Given the description of an element on the screen output the (x, y) to click on. 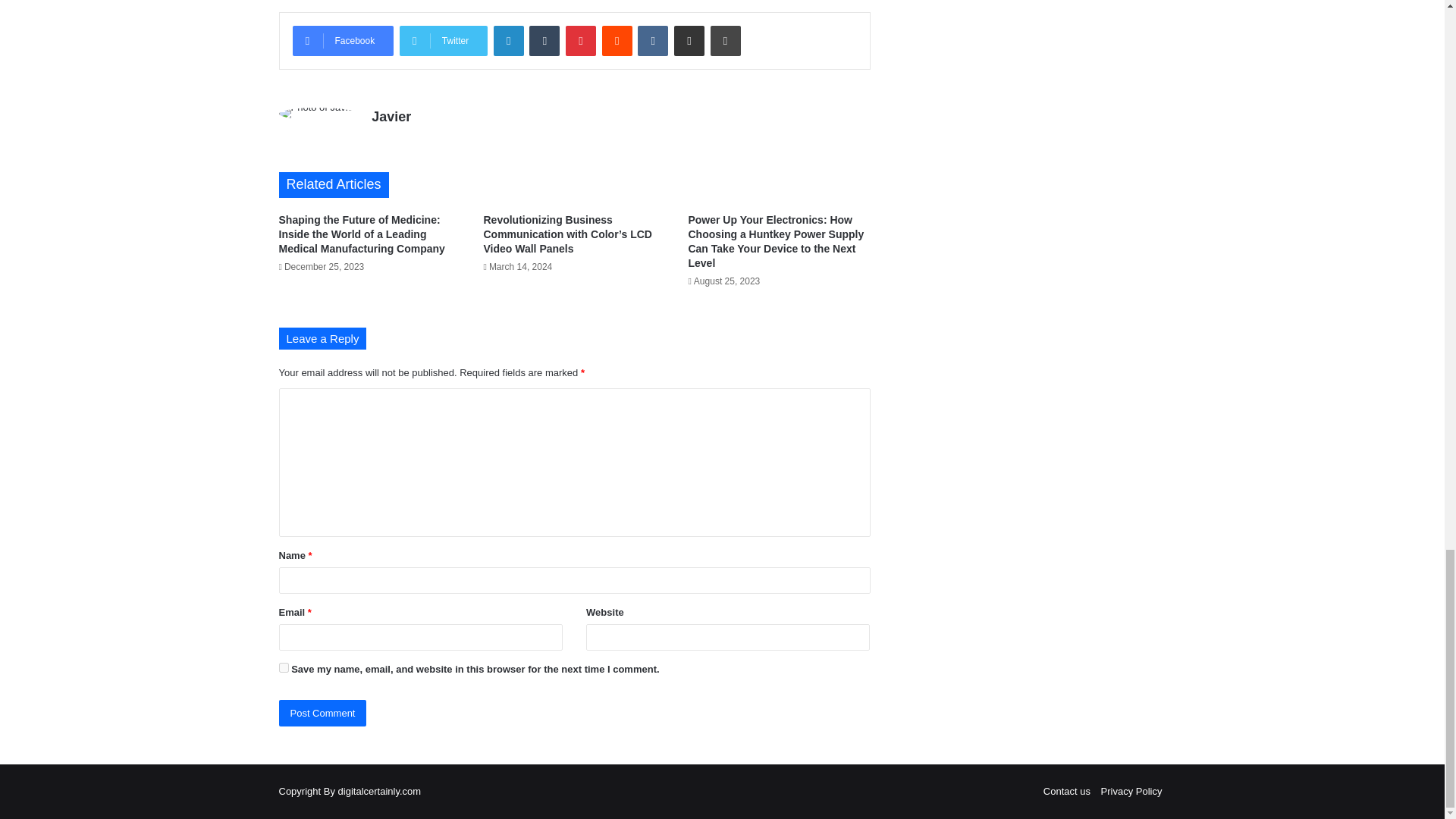
yes (283, 667)
Twitter (442, 40)
Share via Email (689, 40)
Post Comment (322, 713)
Pinterest (580, 40)
LinkedIn (508, 40)
Reddit (616, 40)
Reddit (616, 40)
Javier (390, 116)
Pinterest (580, 40)
Twitter (442, 40)
VKontakte (652, 40)
Facebook (343, 40)
